Given the description of an element on the screen output the (x, y) to click on. 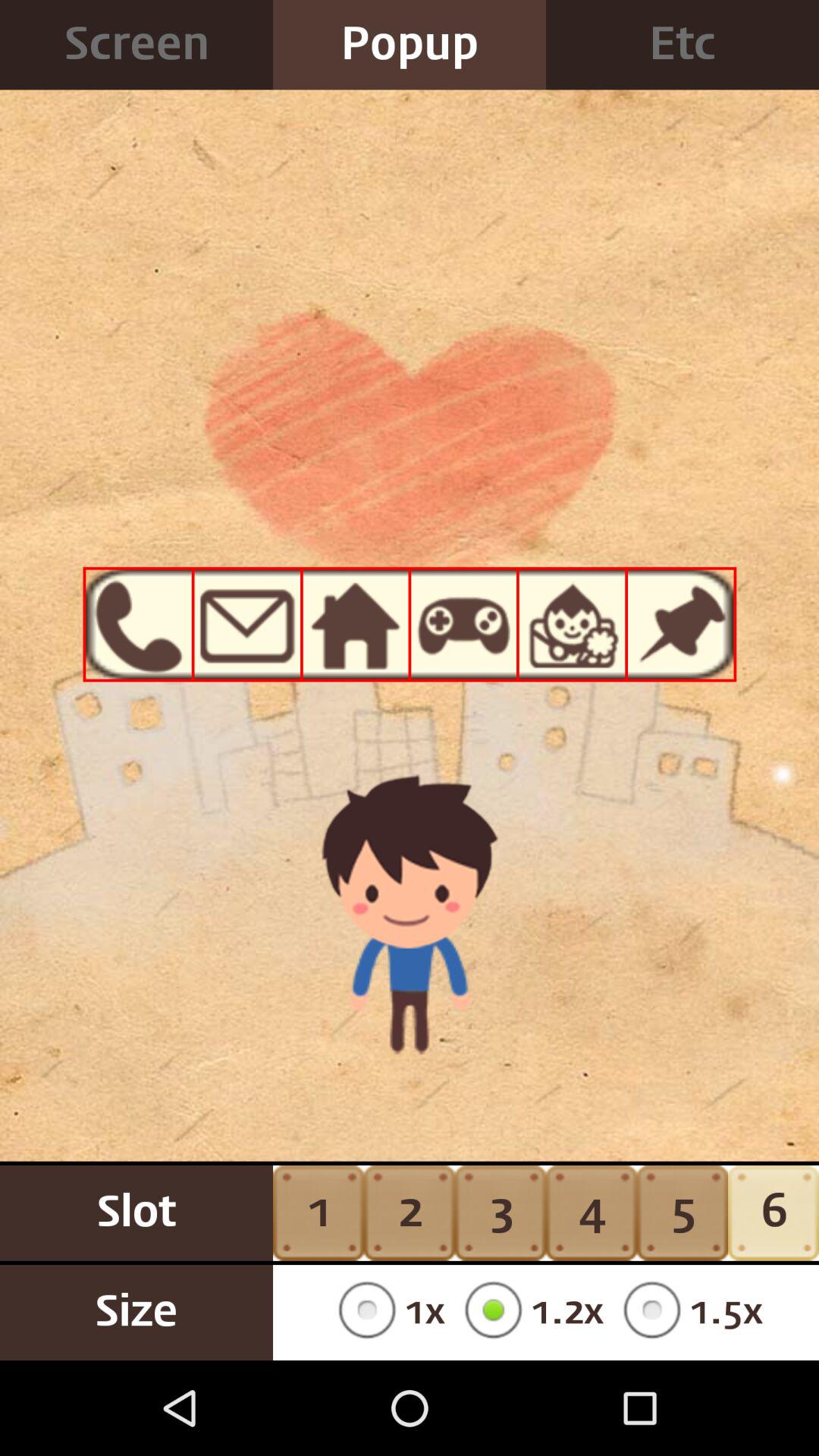
swipe until the popup item (409, 44)
